Given the description of an element on the screen output the (x, y) to click on. 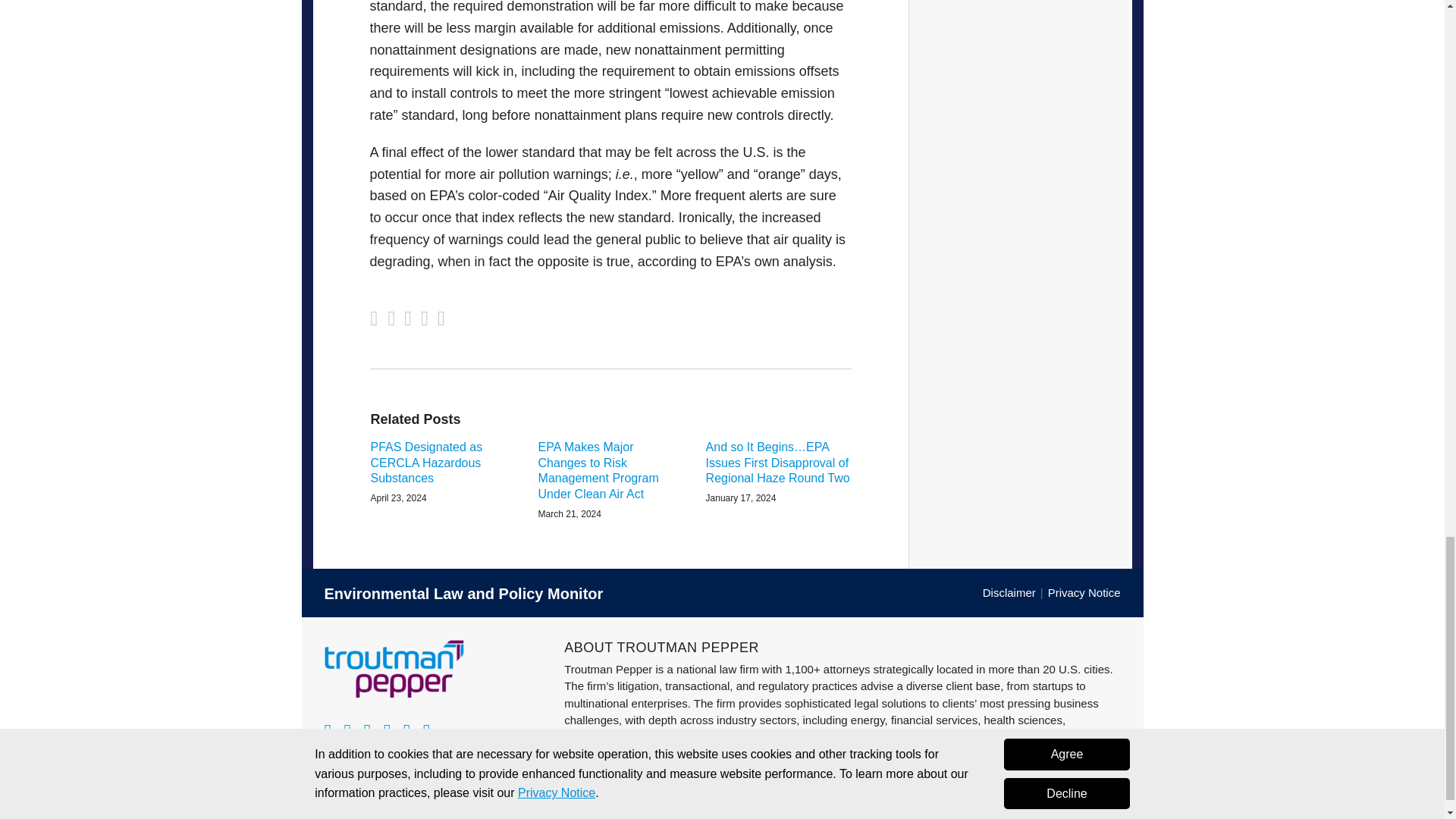
PFAS Designated as CERCLA Hazardous Substances (442, 462)
LexBlog Logo (1109, 813)
